Given the description of an element on the screen output the (x, y) to click on. 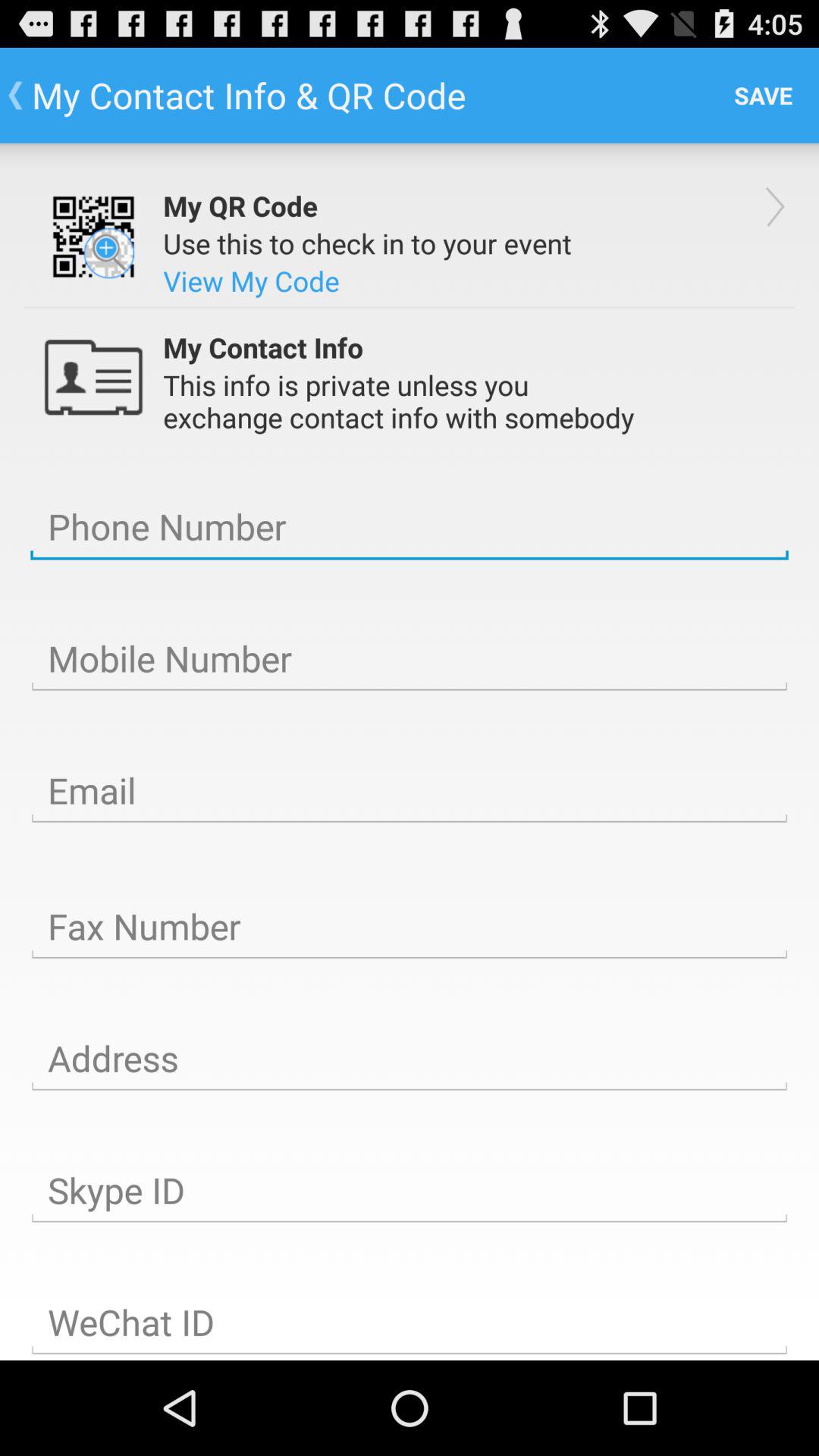
enter mobile number (409, 658)
